Given the description of an element on the screen output the (x, y) to click on. 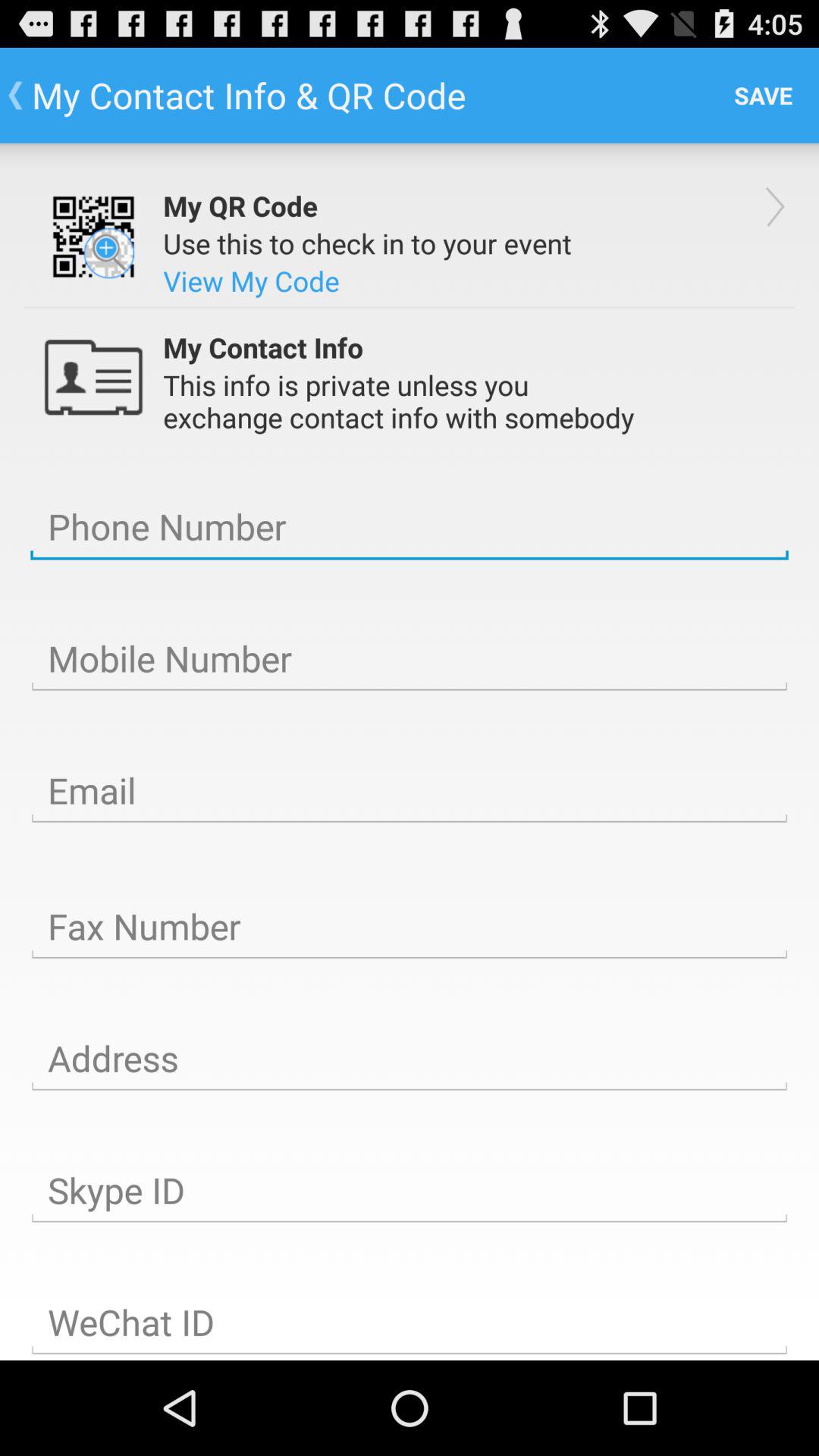
enter mobile number (409, 658)
